Given the description of an element on the screen output the (x, y) to click on. 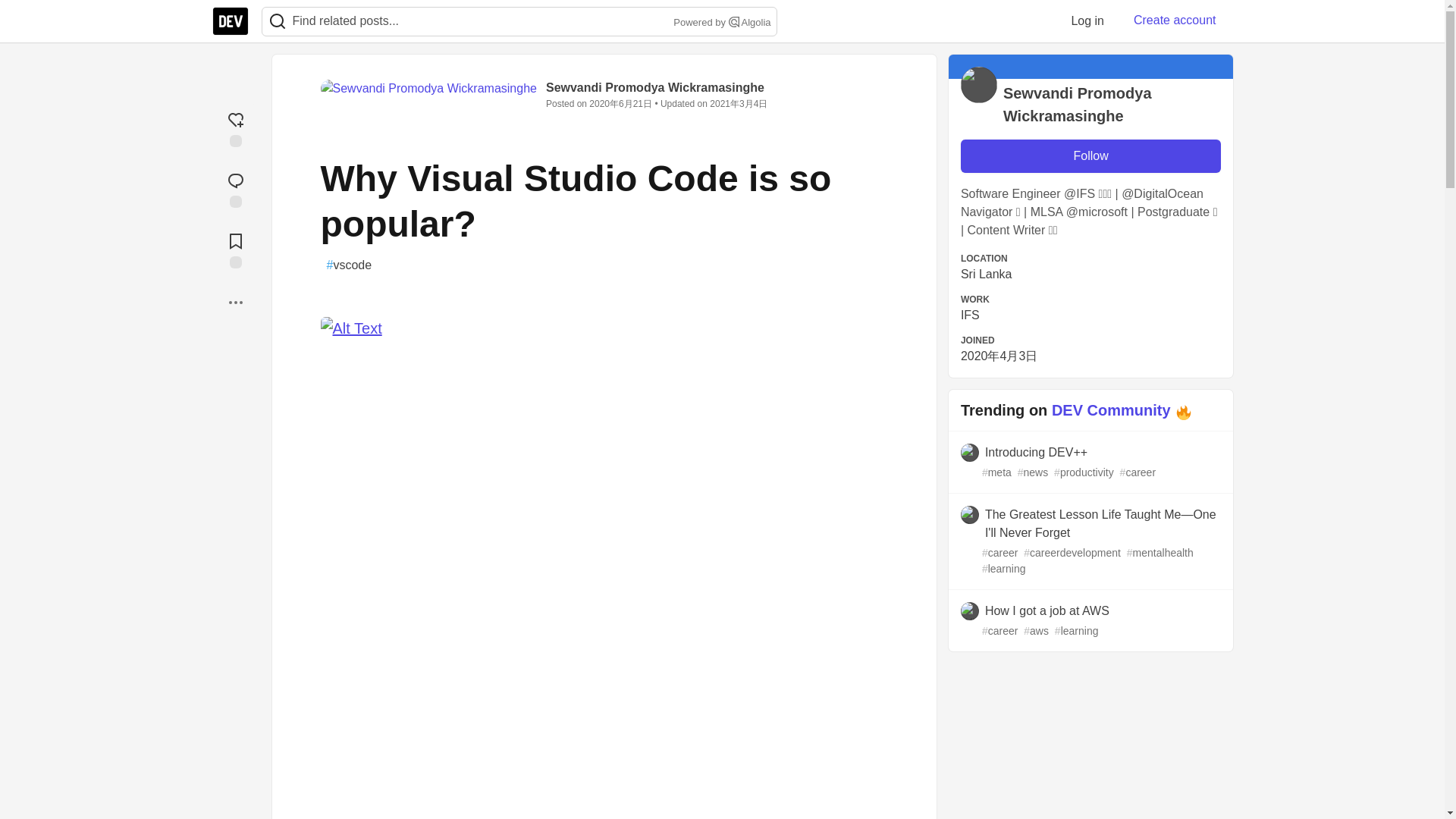
More... (234, 302)
Create account (1174, 20)
Log in (1087, 20)
Sewvandi Promodya Wickramasinghe (655, 87)
Search (277, 21)
Search (734, 21)
Powered by Search Algolia (720, 22)
Search (276, 21)
More... (234, 302)
